Given the description of an element on the screen output the (x, y) to click on. 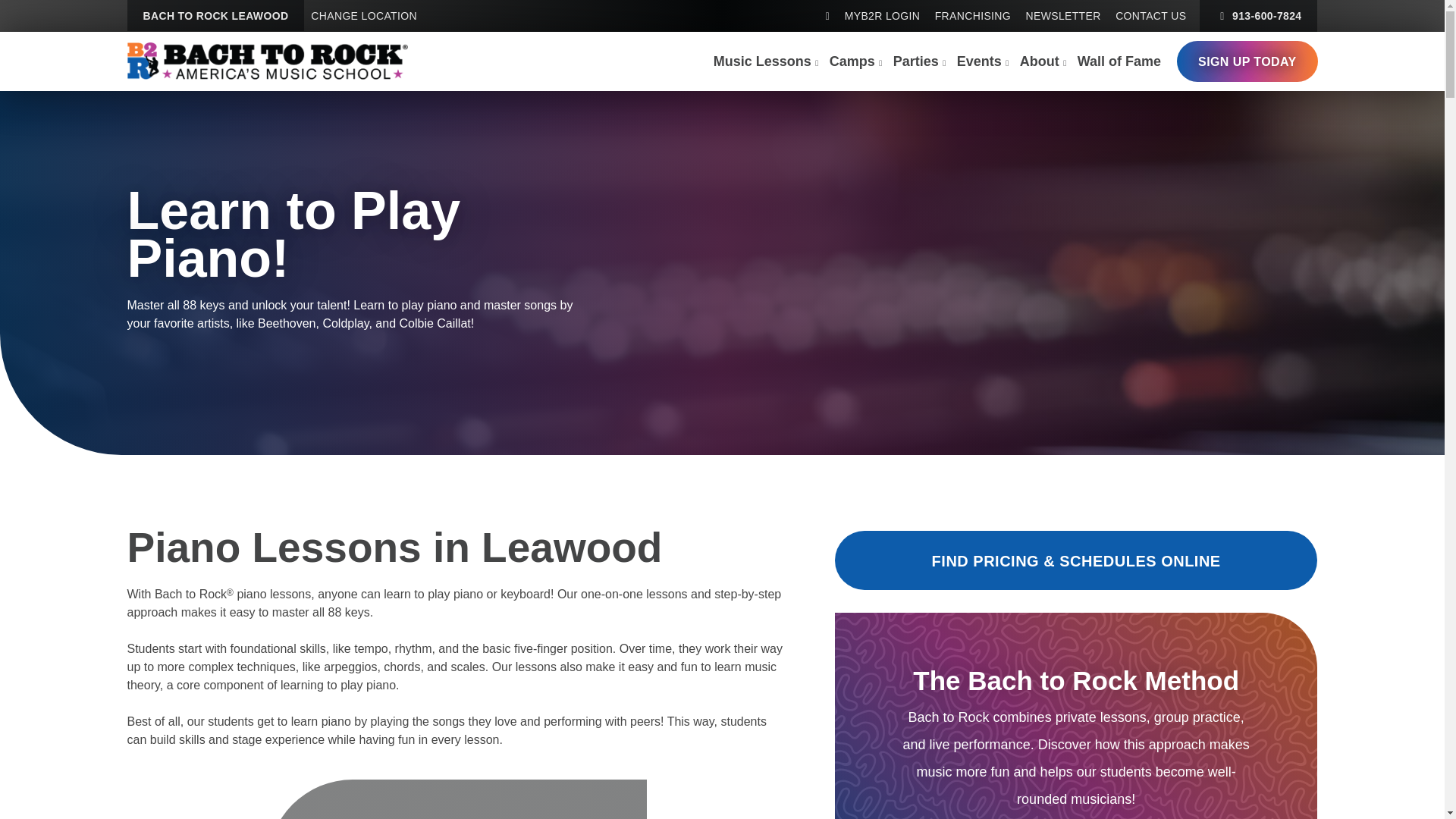
Bach to Rock (267, 60)
